Given the description of an element on the screen output the (x, y) to click on. 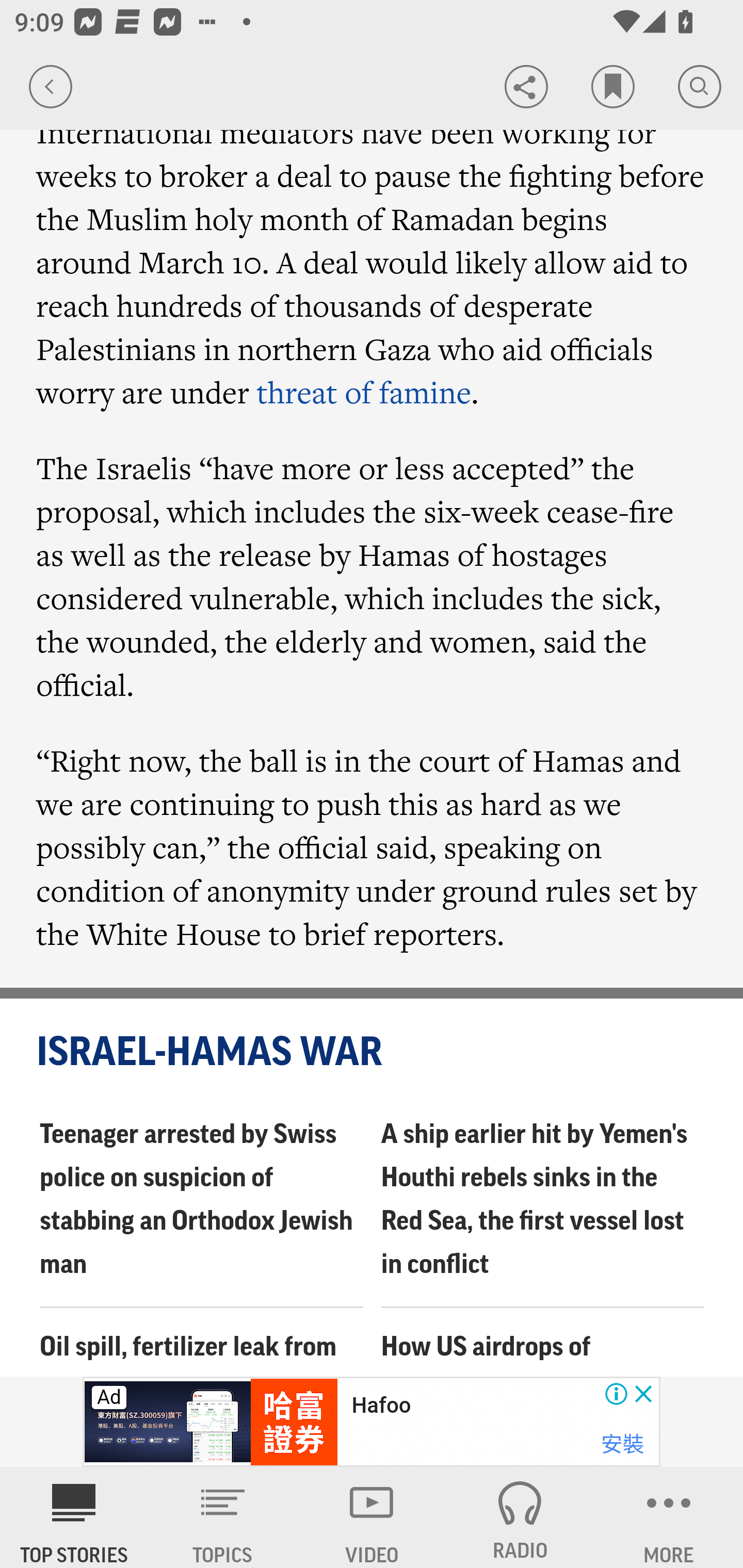
threat of famine (364, 391)
ISRAEL-HAMAS WAR (372, 1053)
Hafoo (381, 1405)
安裝 (621, 1444)
AP News TOP STORIES (74, 1517)
TOPICS (222, 1517)
VIDEO (371, 1517)
RADIO (519, 1517)
MORE (668, 1517)
